Given the description of an element on the screen output the (x, y) to click on. 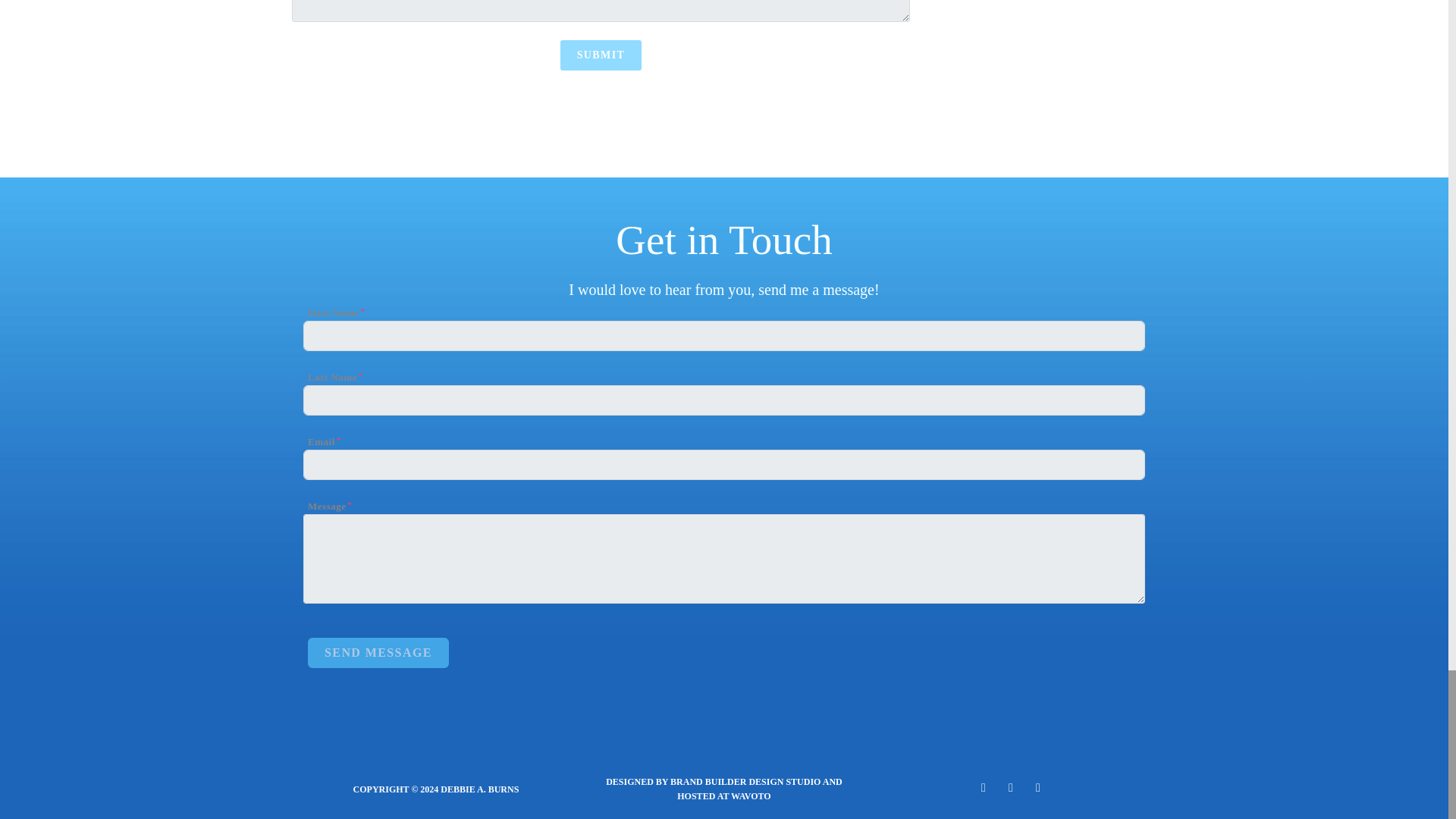
Submit (601, 55)
Submit (601, 55)
